Given the description of an element on the screen output the (x, y) to click on. 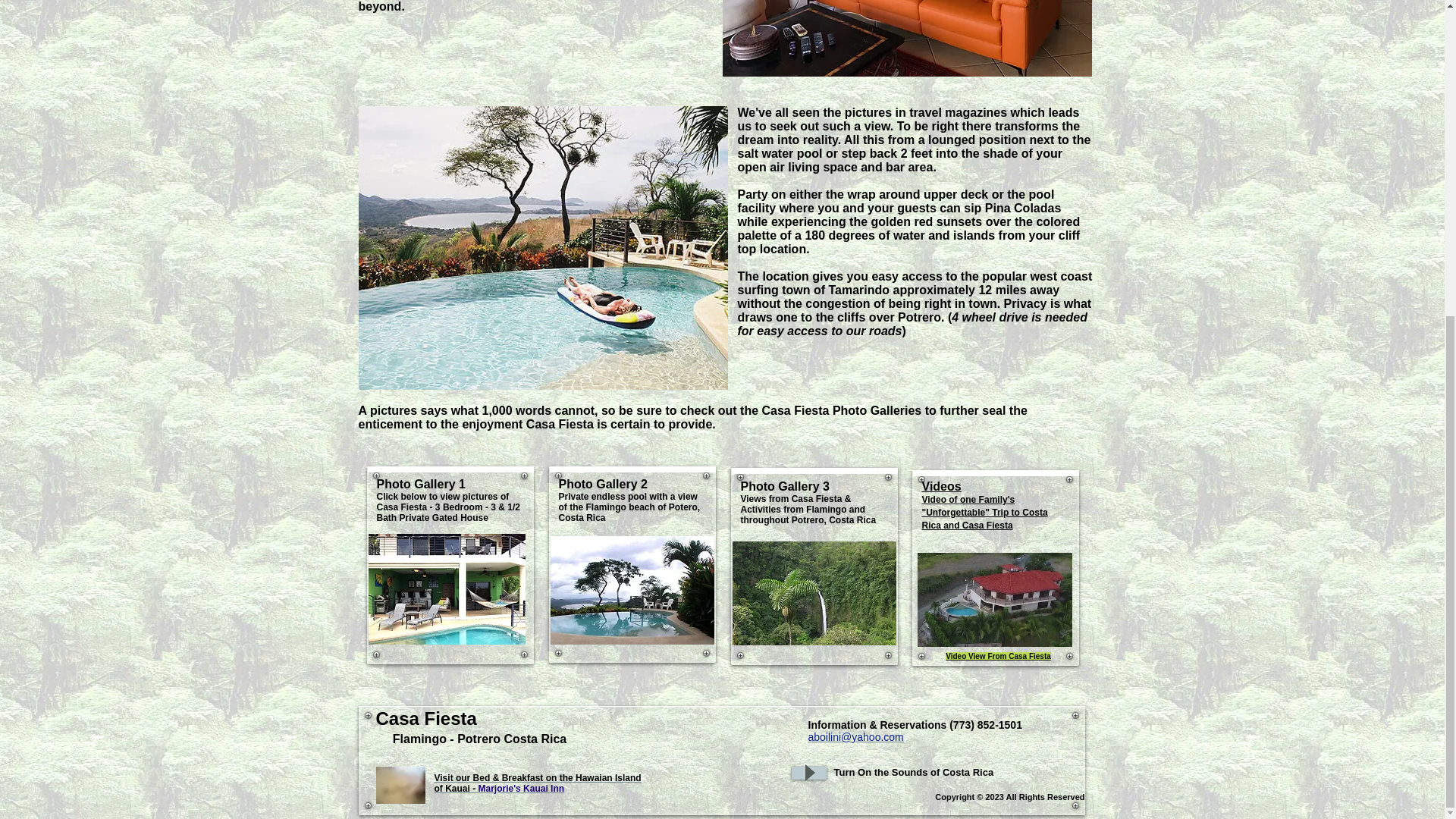
Video View From Casa Fiesta (997, 655)
Photo Gallery 2 (601, 483)
Photo Gallery 3 (783, 486)
Photo Gallery 1 (419, 483)
